Given the description of an element on the screen output the (x, y) to click on. 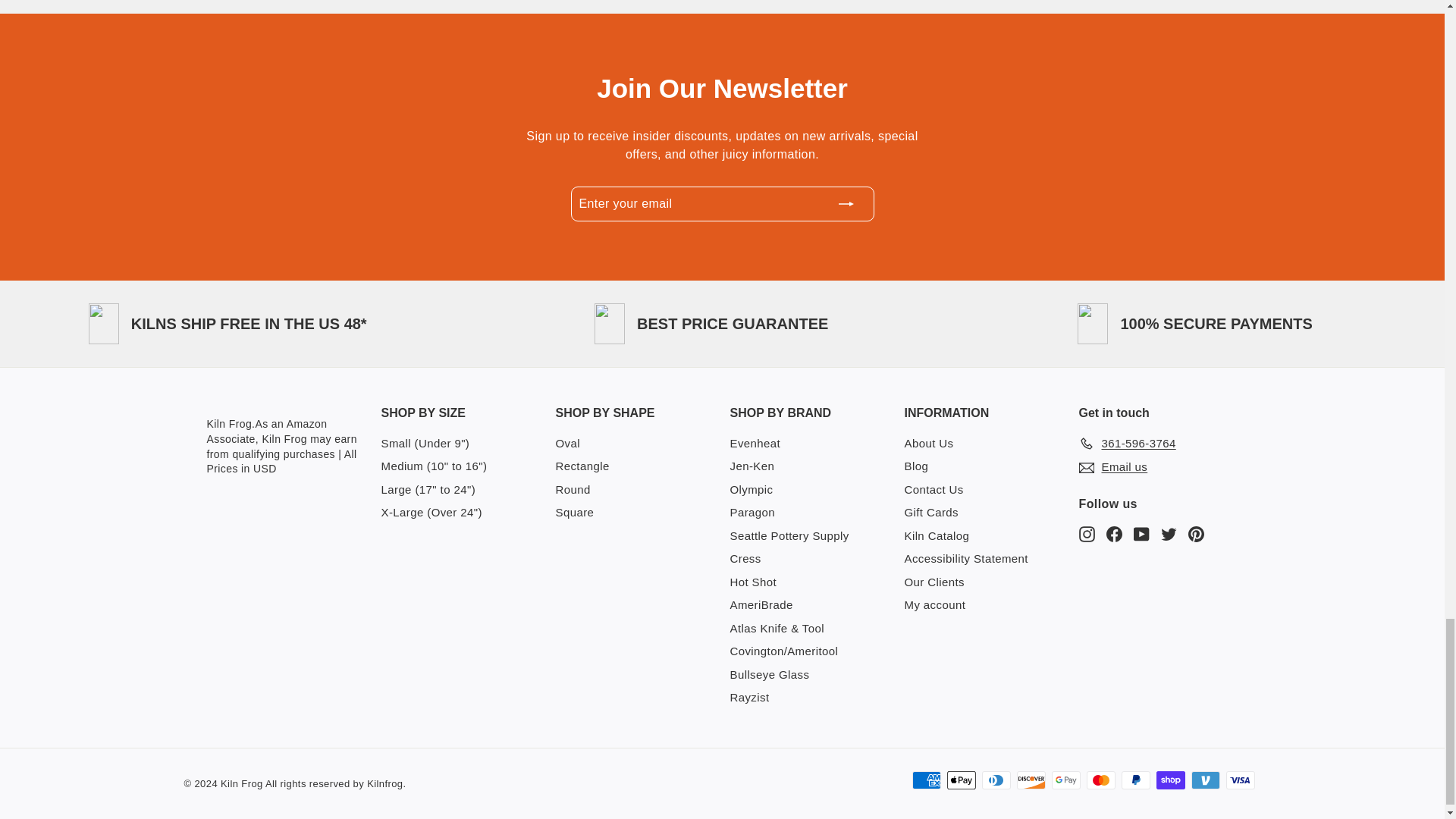
Kiln Frog on Instagram (1086, 533)
Kiln Frog on YouTube (1140, 533)
Kiln Frog on Pinterest (1196, 533)
Kiln Frog on Twitter (1168, 533)
Kiln Frog on Facebook (1113, 533)
